Given the description of an element on the screen output the (x, y) to click on. 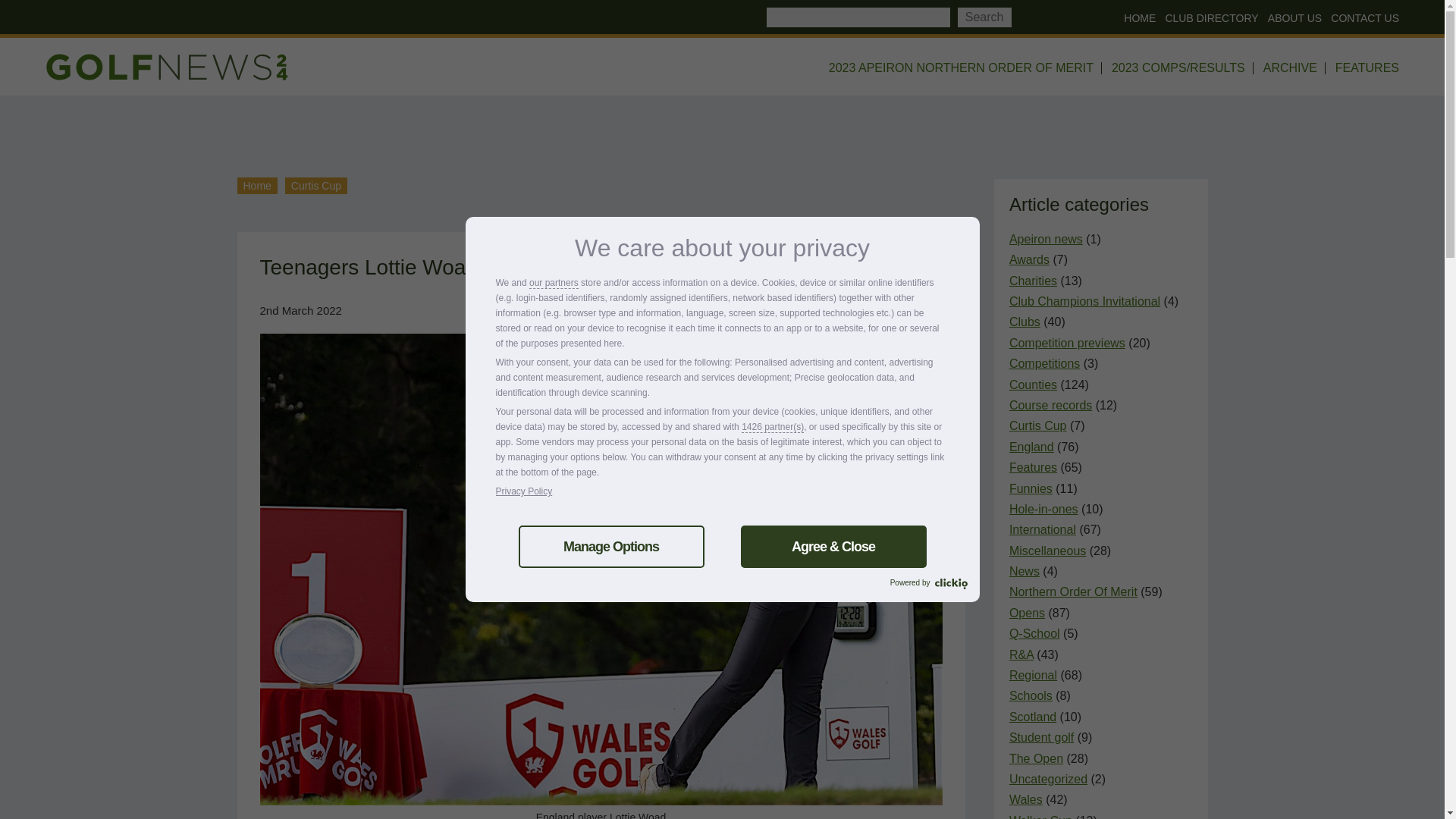
ARCHIVE (1290, 68)
ABOUT US (1292, 18)
Curtis Cup (316, 185)
Clickio (950, 584)
HOME (1137, 18)
CONTACT US (1361, 18)
Home (255, 185)
2023 APEIRON NORTHERN ORDER OF MERIT (961, 68)
CLUB DIRECTORY (1207, 18)
FEATURES (1364, 68)
Search (984, 17)
